Given the description of an element on the screen output the (x, y) to click on. 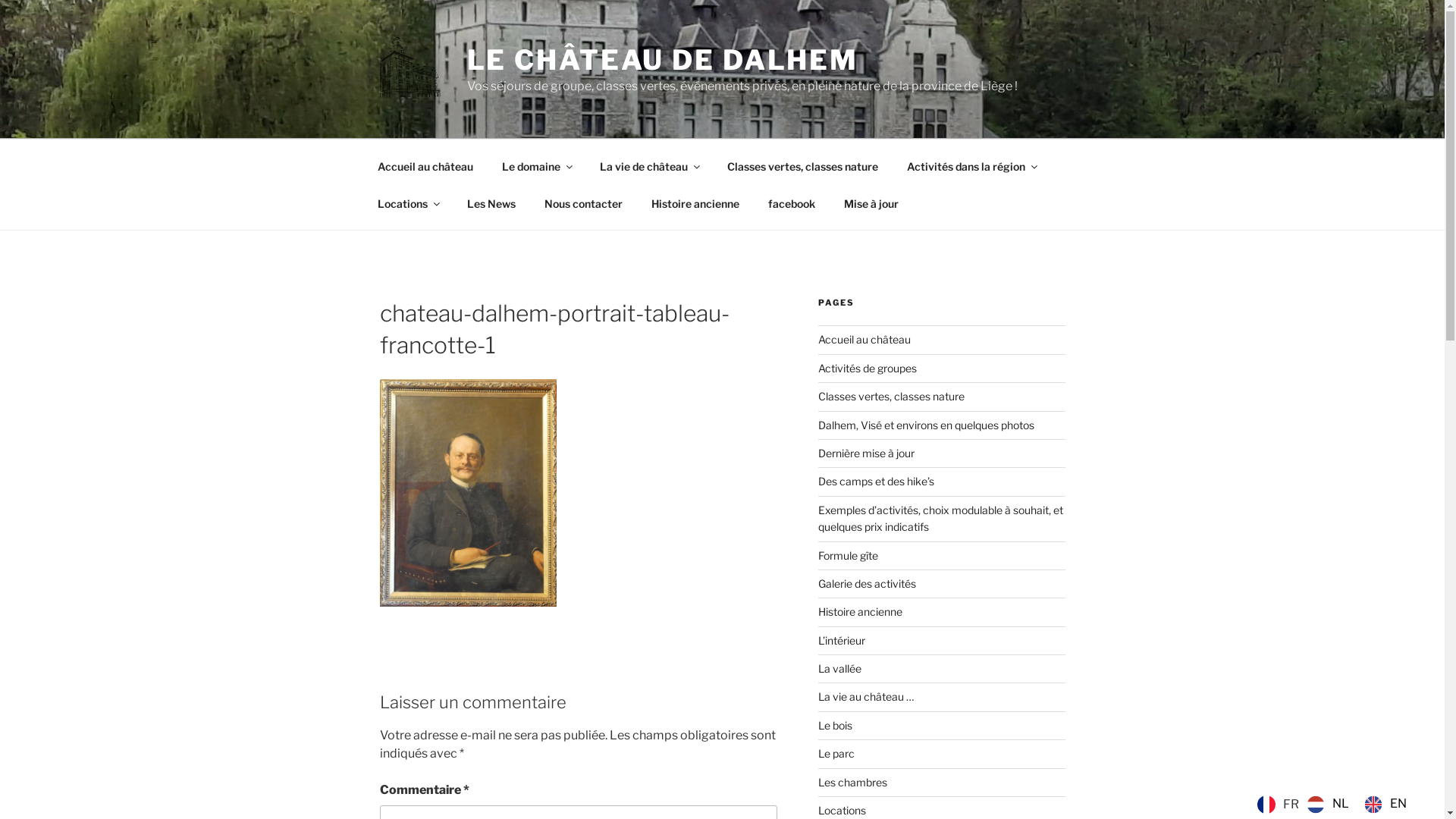
Les News Element type: text (490, 203)
Locations Element type: text (842, 809)
EN Element type: text (1385, 803)
Classes vertes, classes nature Element type: text (891, 395)
Histoire ancienne Element type: text (860, 611)
Histoire ancienne Element type: text (695, 203)
NL Element type: text (1327, 803)
Le bois Element type: text (835, 724)
Classes vertes, classes nature Element type: text (802, 165)
Le domaine Element type: text (535, 165)
facebook Element type: text (791, 203)
Locations Element type: text (407, 203)
Nous contacter Element type: text (582, 203)
Le parc Element type: text (836, 752)
Les chambres Element type: text (852, 781)
